Given the description of an element on the screen output the (x, y) to click on. 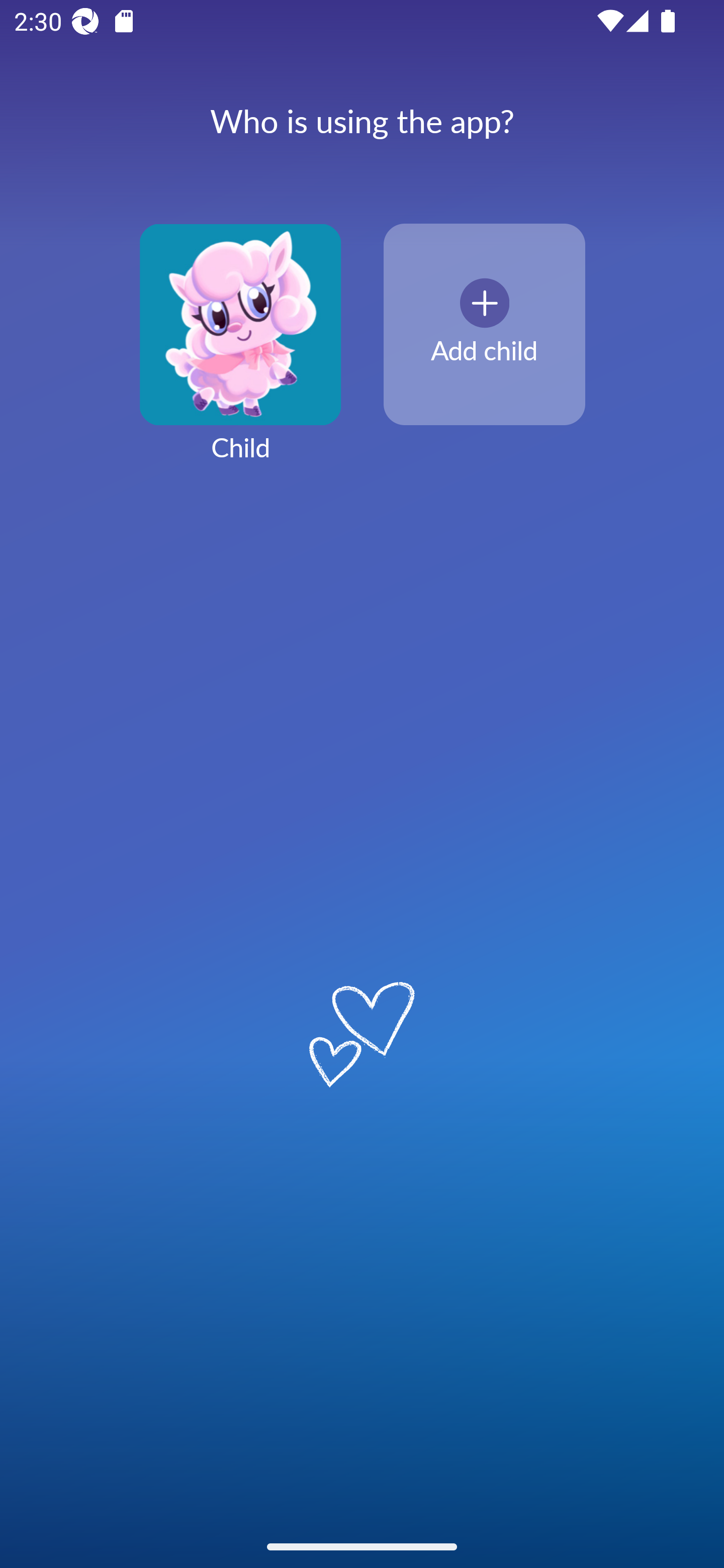
Child (240, 354)
Add child (483, 324)
